Given the description of an element on the screen output the (x, y) to click on. 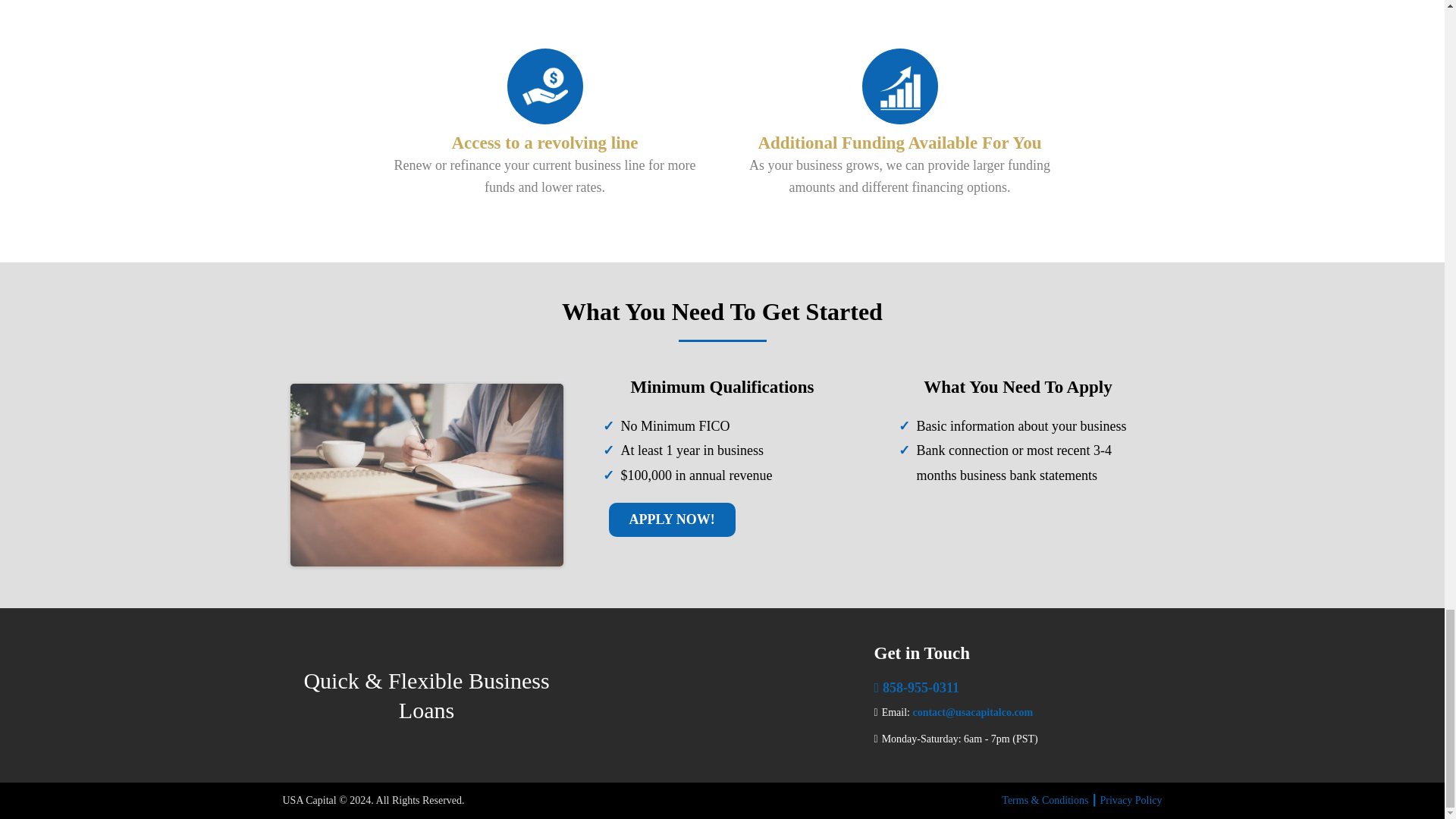
Privacy Policy (1130, 799)
858-955-0311 (920, 687)
APPLY NOW! (671, 519)
